Given the description of an element on the screen output the (x, y) to click on. 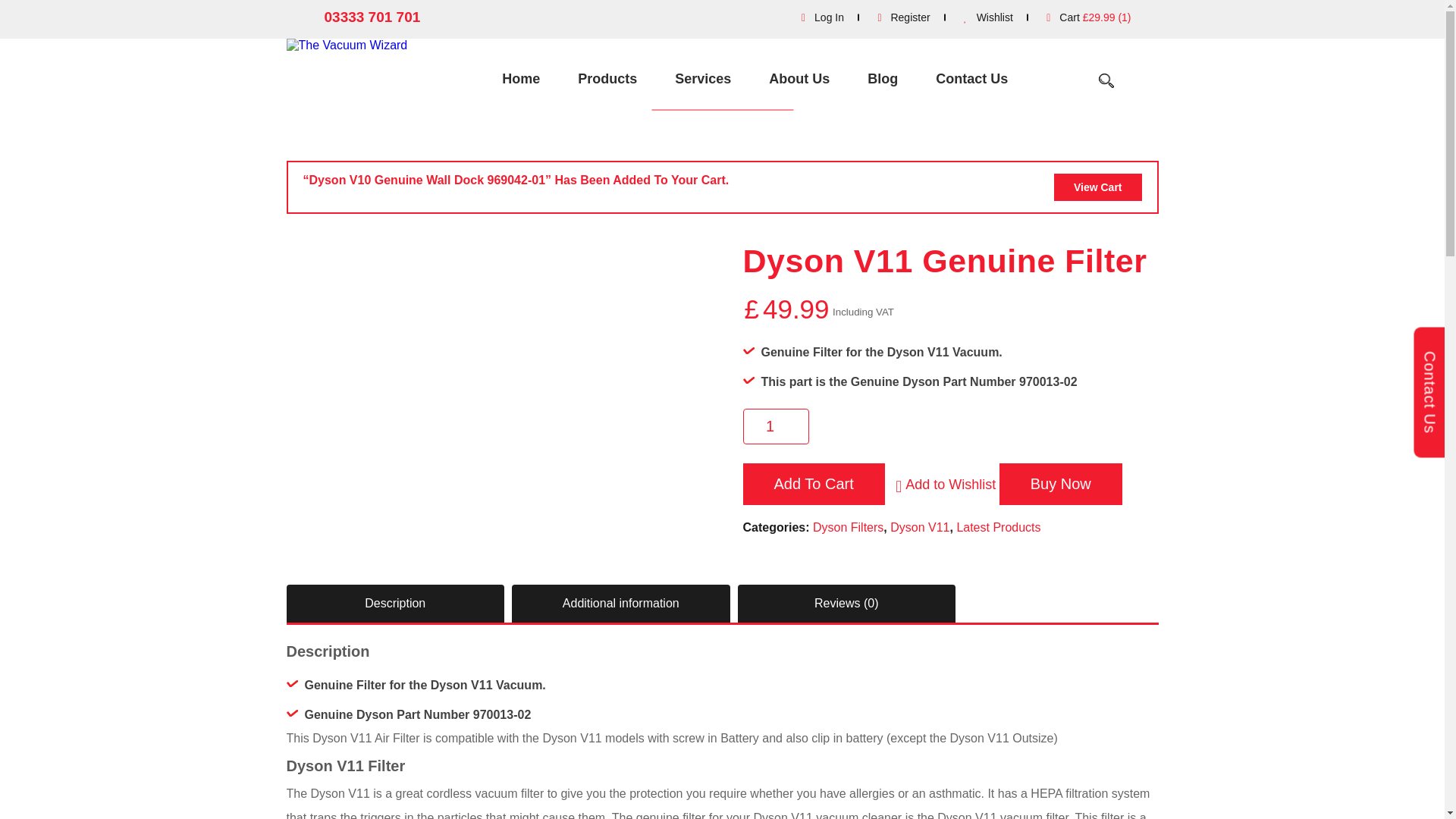
Wishlist (988, 17)
Contact Us (971, 78)
Wishlist (988, 17)
About Us (798, 78)
Register (903, 17)
03333 701 701 (360, 19)
Blog (882, 78)
Qty (775, 426)
1 (775, 426)
Services (702, 78)
